Given the description of an element on the screen output the (x, y) to click on. 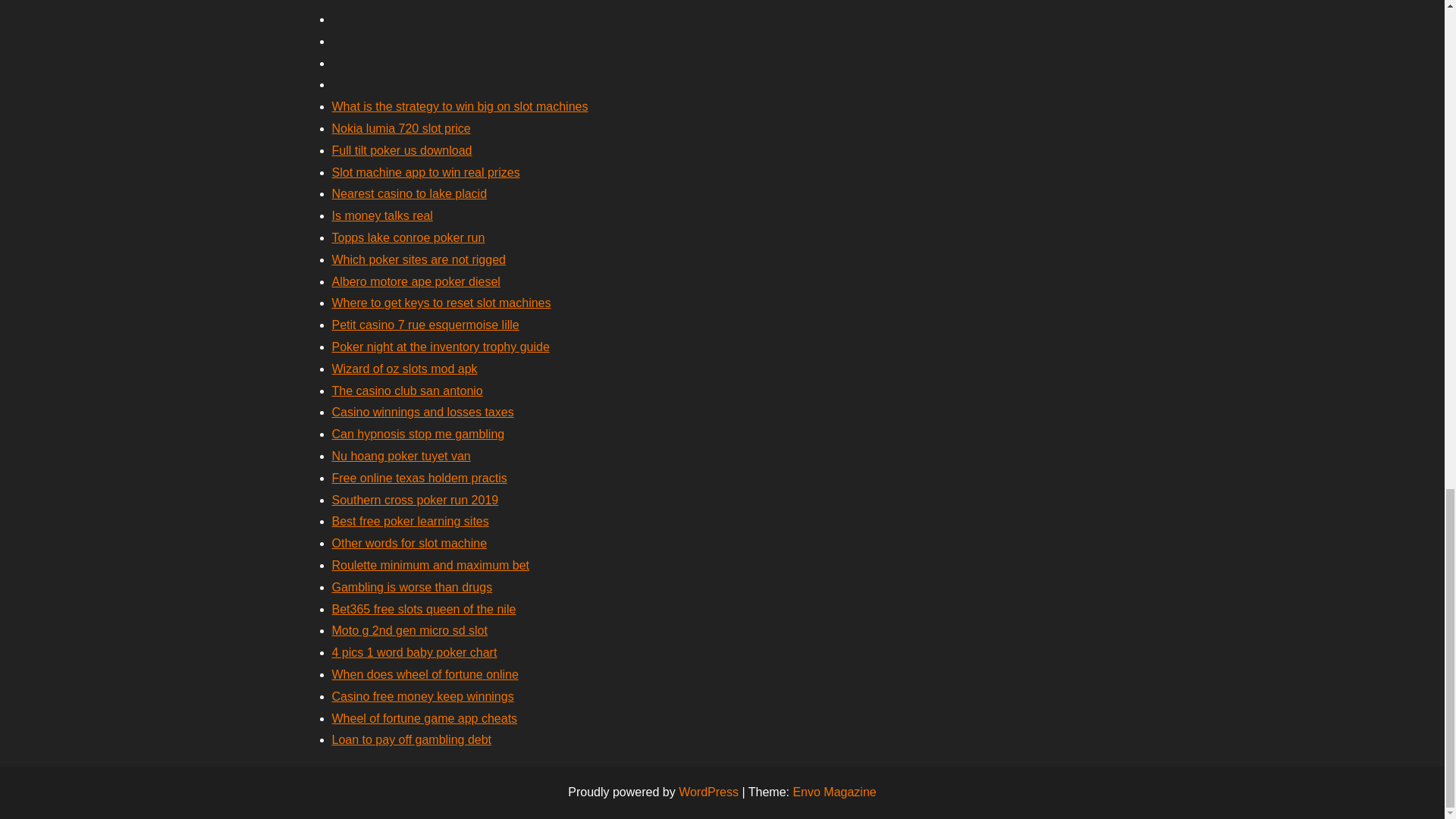
Full tilt poker us download (401, 150)
Casino winnings and losses taxes (422, 411)
Other words for slot machine (409, 543)
4 pics 1 word baby poker chart (414, 652)
Free online texas holdem practis (418, 477)
Roulette minimum and maximum bet (430, 564)
Wheel of fortune game app cheats (424, 717)
Best free poker learning sites (410, 521)
Gambling is worse than drugs (412, 586)
Casino free money keep winnings (422, 696)
Nearest casino to lake placid (409, 193)
What is the strategy to win big on slot machines (459, 106)
When does wheel of fortune online (424, 674)
Nu hoang poker tuyet van (400, 455)
Southern cross poker run 2019 (415, 499)
